Given the description of an element on the screen output the (x, y) to click on. 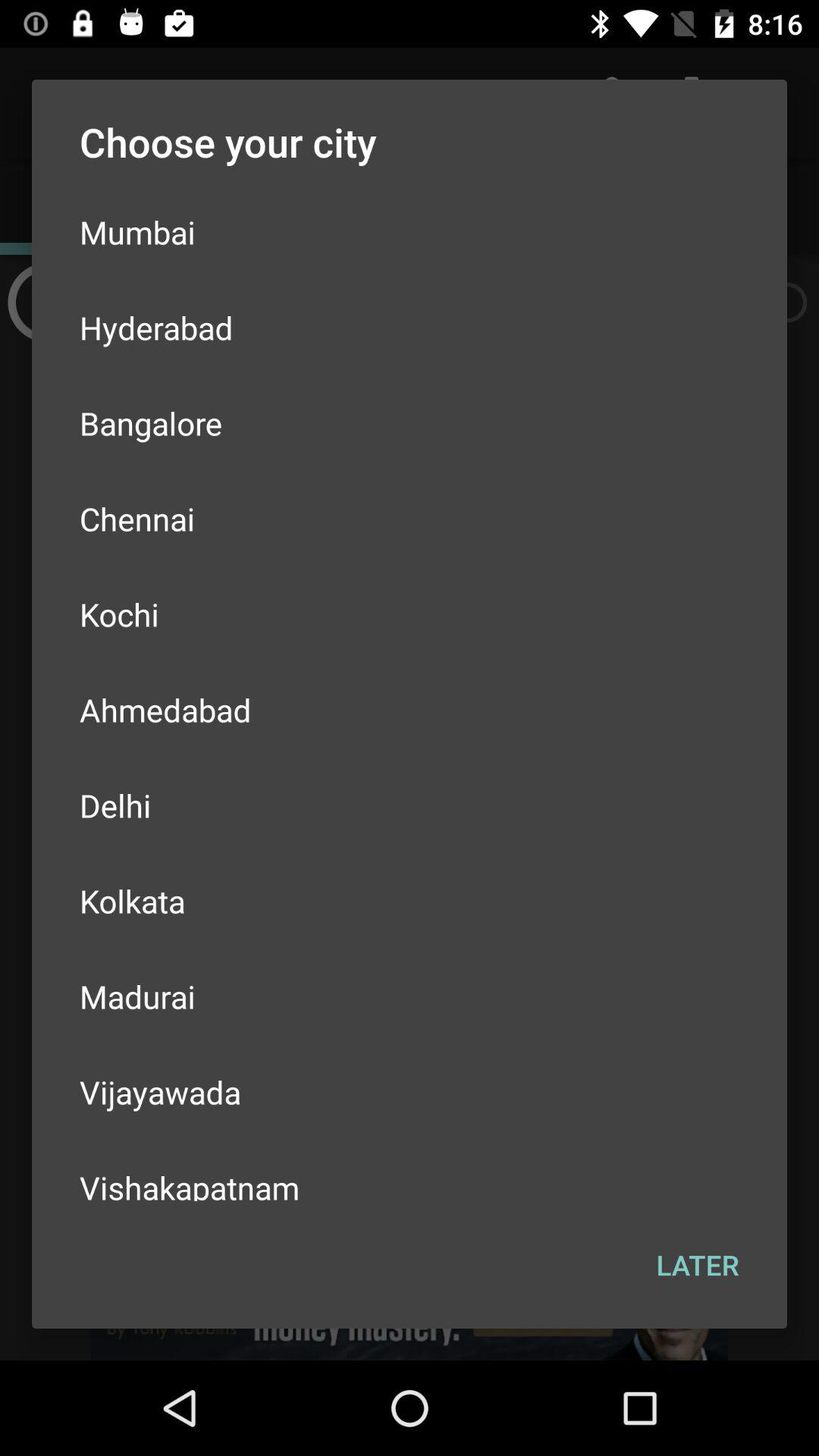
launch item above the chennai (409, 422)
